Given the description of an element on the screen output the (x, y) to click on. 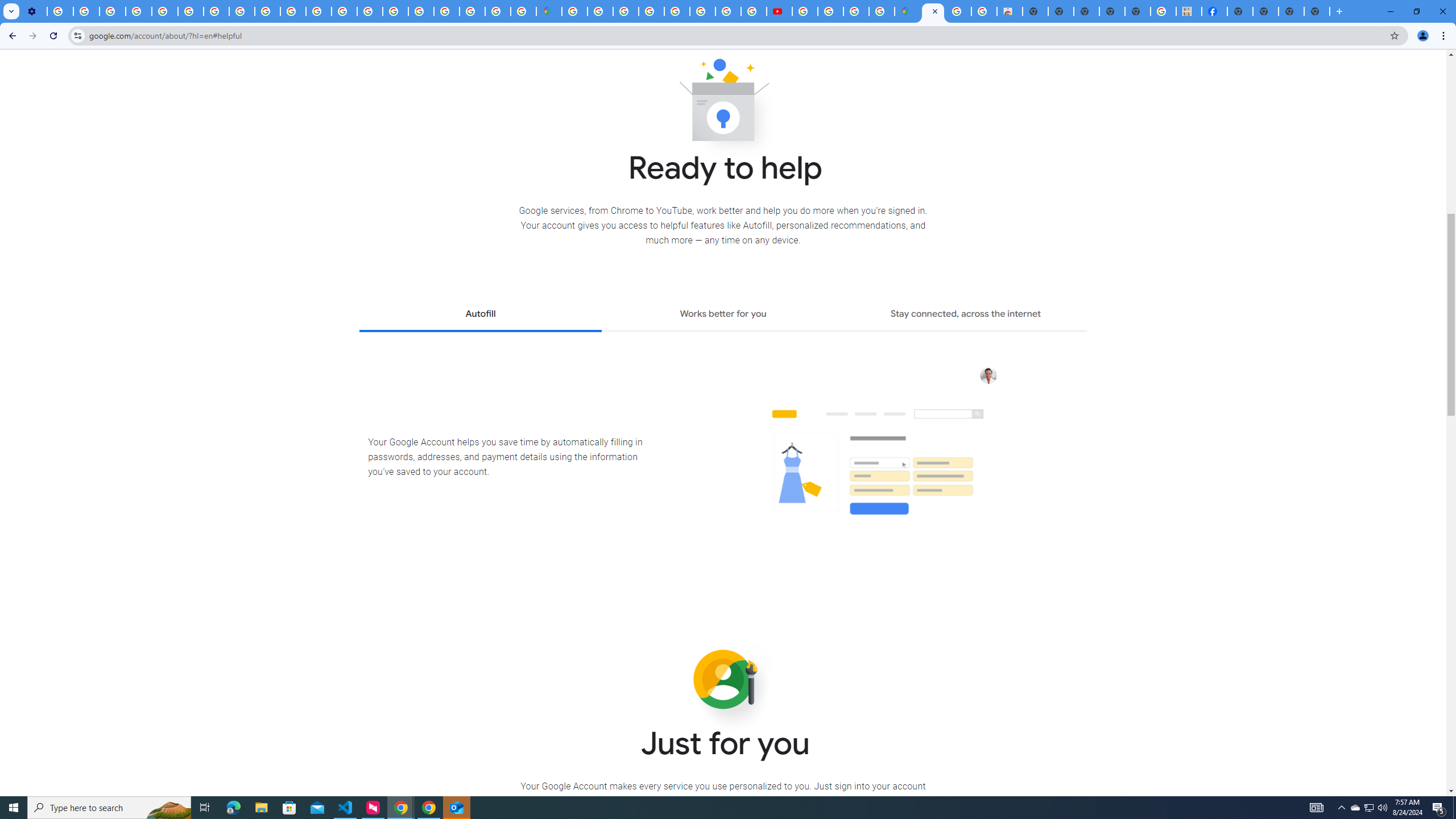
Privacy Help Center - Policies Help (165, 11)
Learn how to find your photos - Google Photos Help (86, 11)
Sign in - Google Accounts (600, 11)
Terms and Conditions (676, 11)
Sign in - Google Accounts (446, 11)
Subscriptions - YouTube (779, 11)
Privacy Help Center - Policies Help (344, 11)
Chrome Web Store - Shopping (1009, 11)
Google Maps (907, 11)
Works better for you (722, 315)
